Given the description of an element on the screen output the (x, y) to click on. 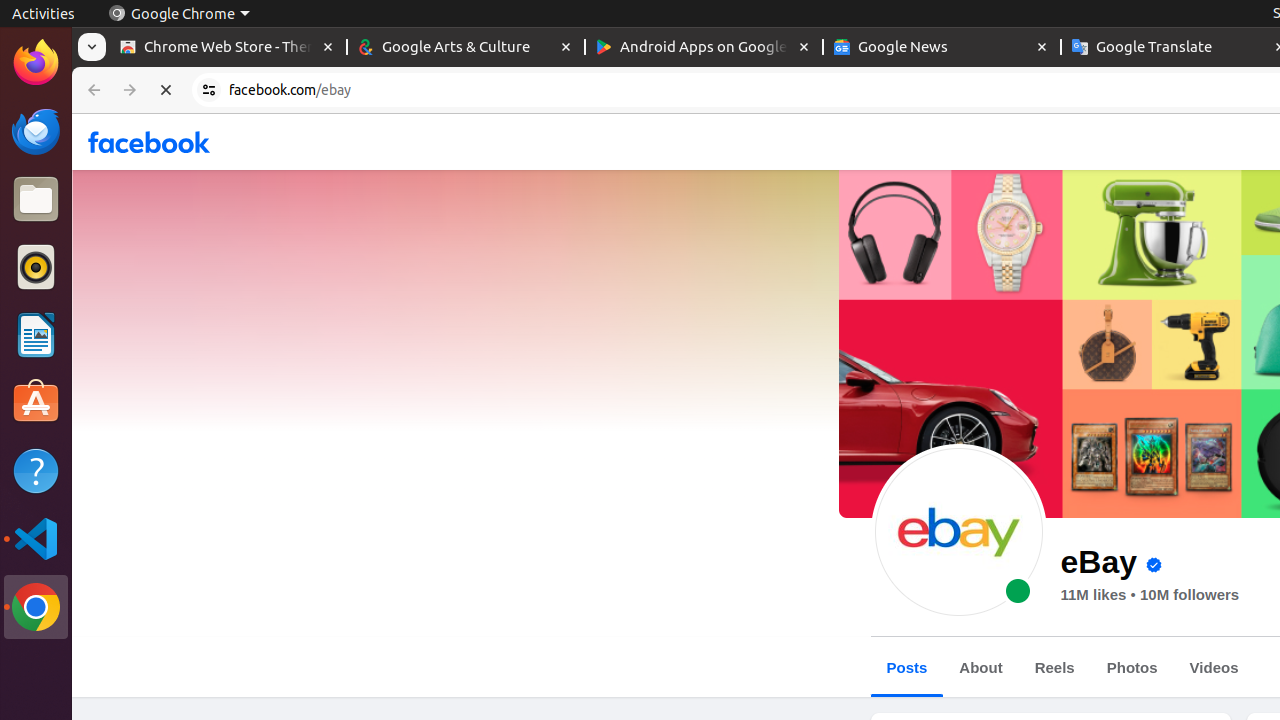
Forward Element type: push-button (130, 90)
Google News - Memory usage - 49.7 MB Element type: page-tab (942, 47)
10M followers Element type: link (1189, 595)
eBay Element type: link (958, 532)
Ubuntu Software Element type: push-button (36, 402)
